Given the description of an element on the screen output the (x, y) to click on. 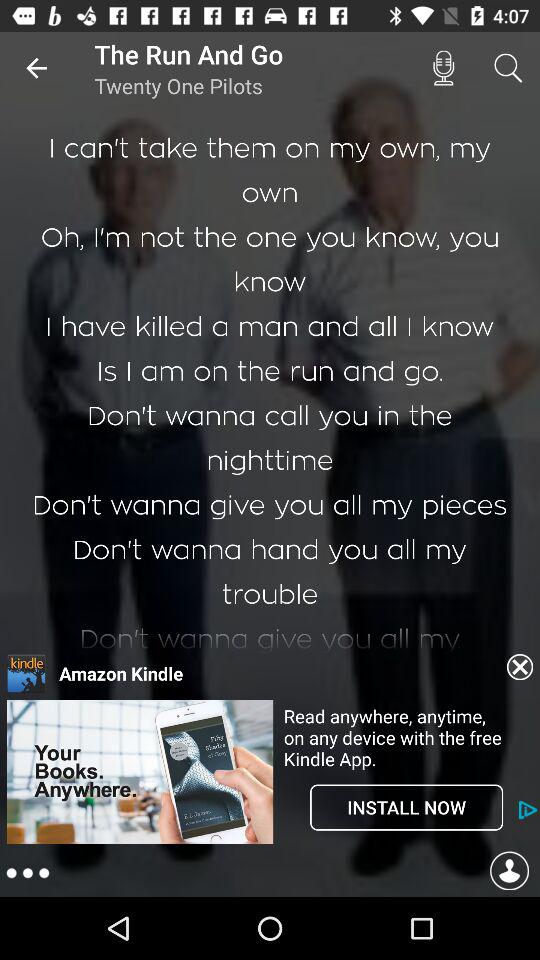
click on advertisement (139, 842)
